Given the description of an element on the screen output the (x, y) to click on. 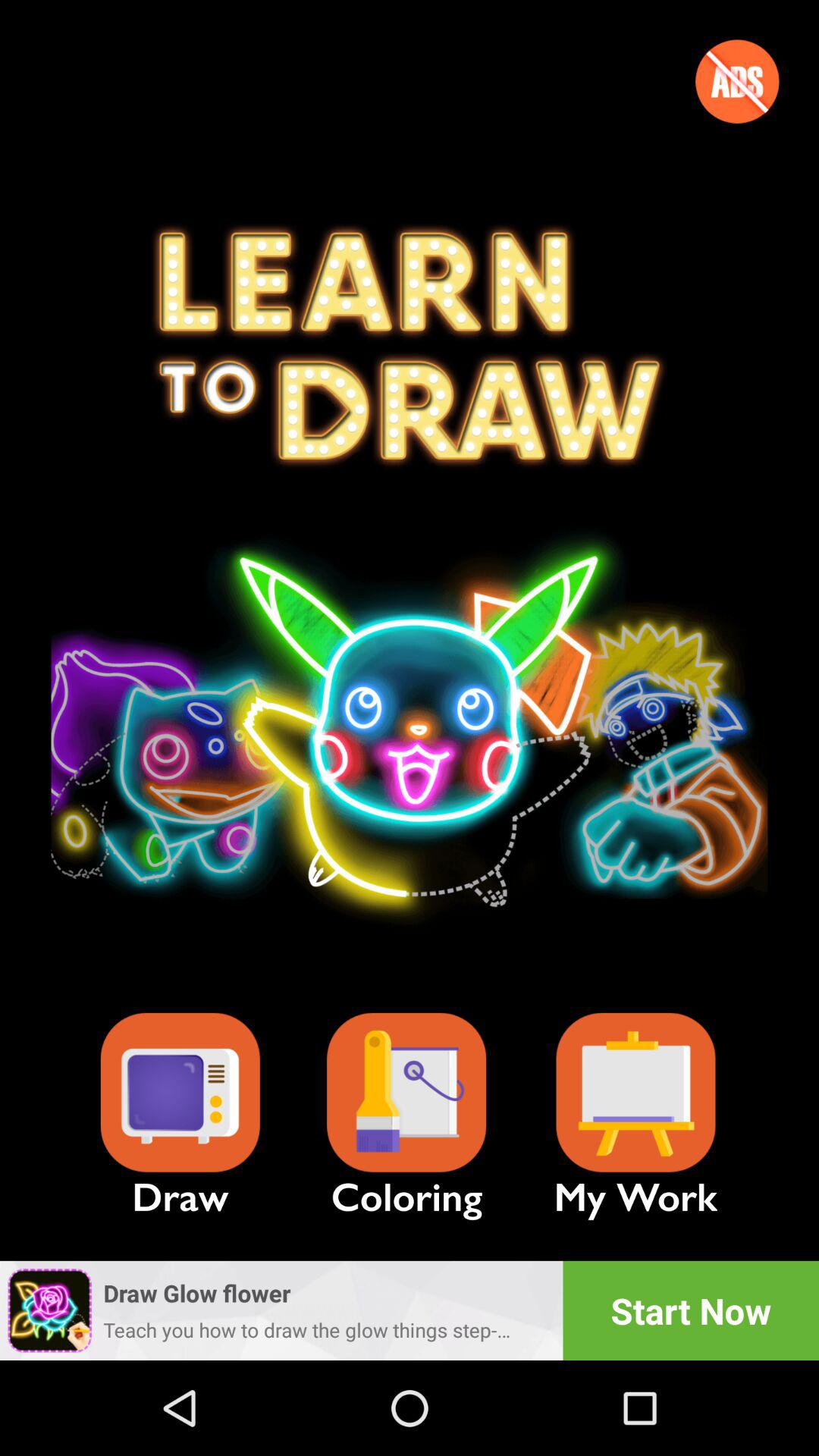
draw the image (179, 1092)
